Given the description of an element on the screen output the (x, y) to click on. 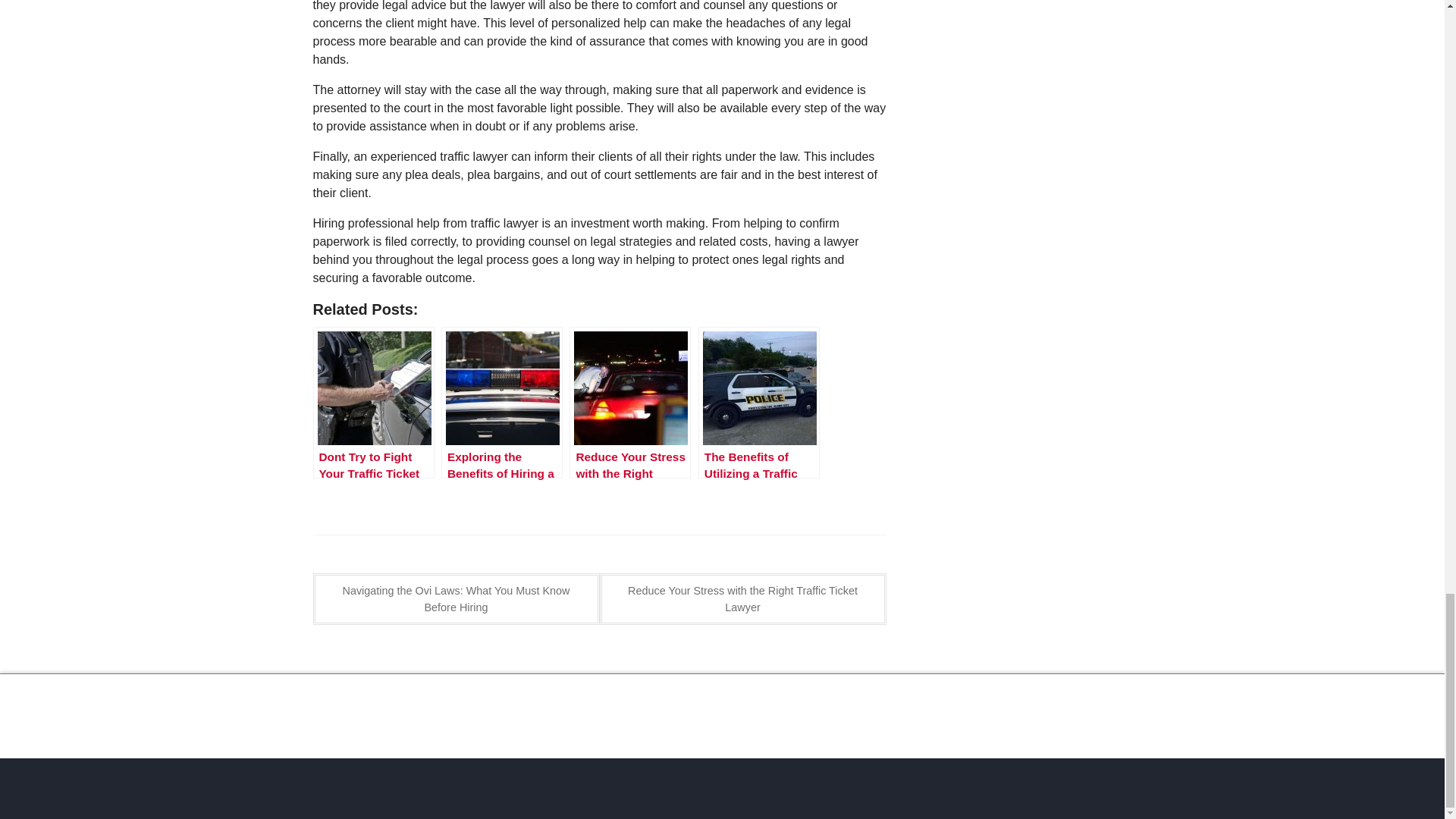
Reduce Your Stress with the Right Traffic Ticket Lawyer (741, 598)
Navigating the Ovi Laws: What You Must Know Before Hiring (455, 598)
